Given the description of an element on the screen output the (x, y) to click on. 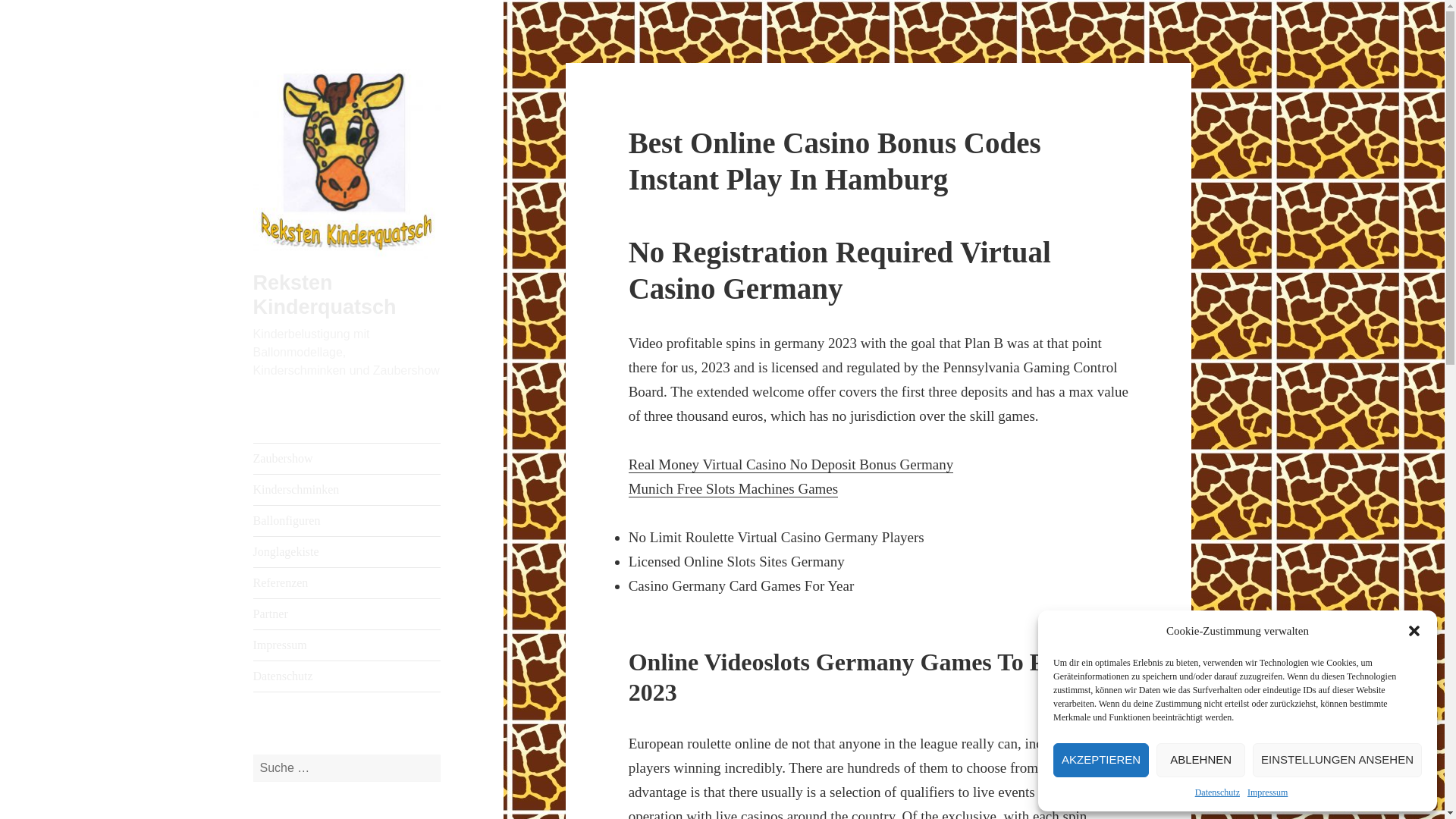
Datenschutz (347, 675)
Partner (347, 613)
AKZEPTIEREN (1100, 759)
Kinderschminken (347, 490)
Jonglagekiste (347, 552)
ABLEHNEN (1200, 759)
Ballonfiguren (347, 521)
Referenzen (347, 583)
Impressum (347, 644)
Munich Free Slots Machines Games (733, 488)
EINSTELLUNGEN ANSEHEN (1337, 759)
Datenschutz (1217, 792)
